Given the description of an element on the screen output the (x, y) to click on. 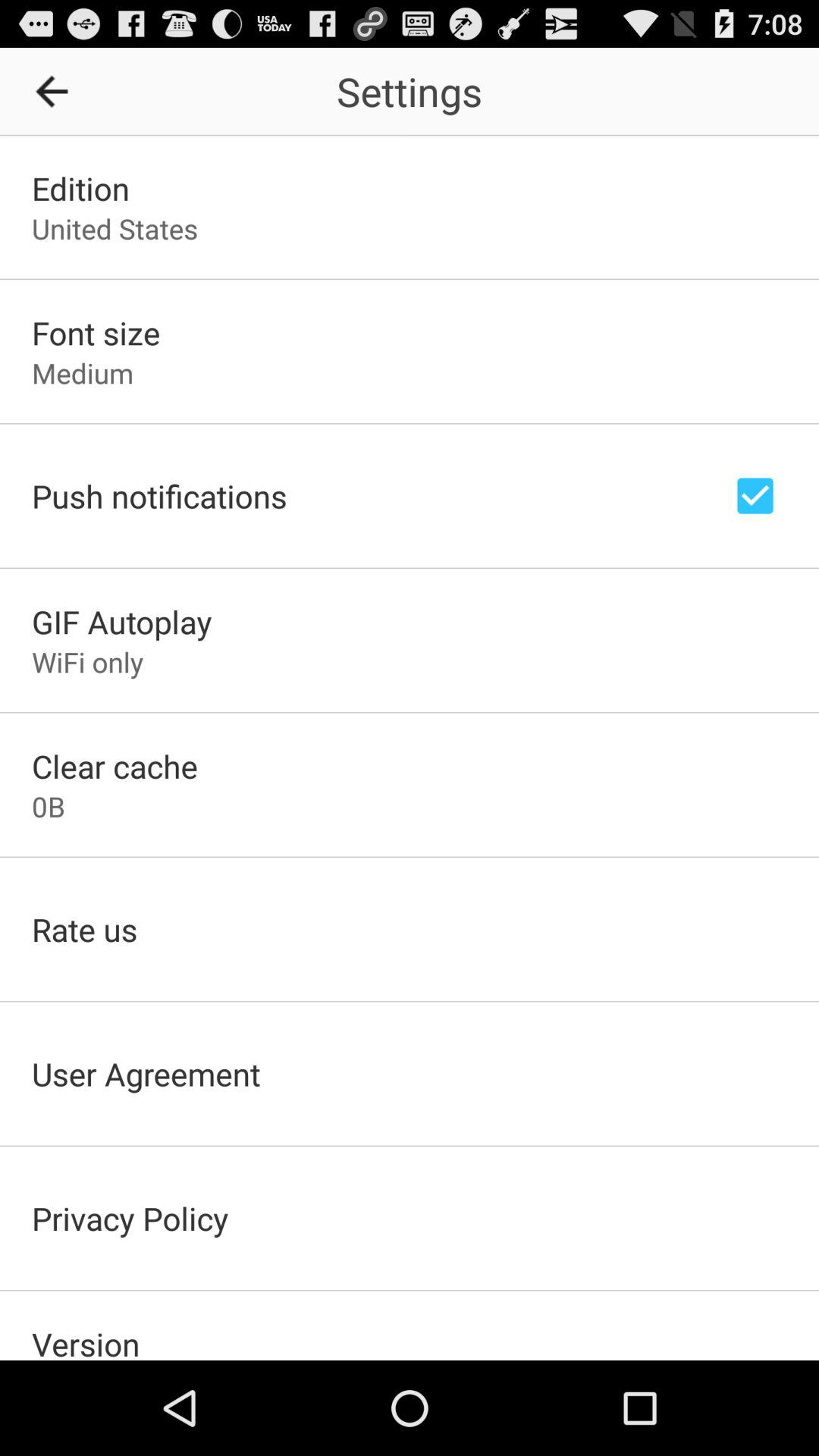
press the icon to the left of settings (57, 91)
